Given the description of an element on the screen output the (x, y) to click on. 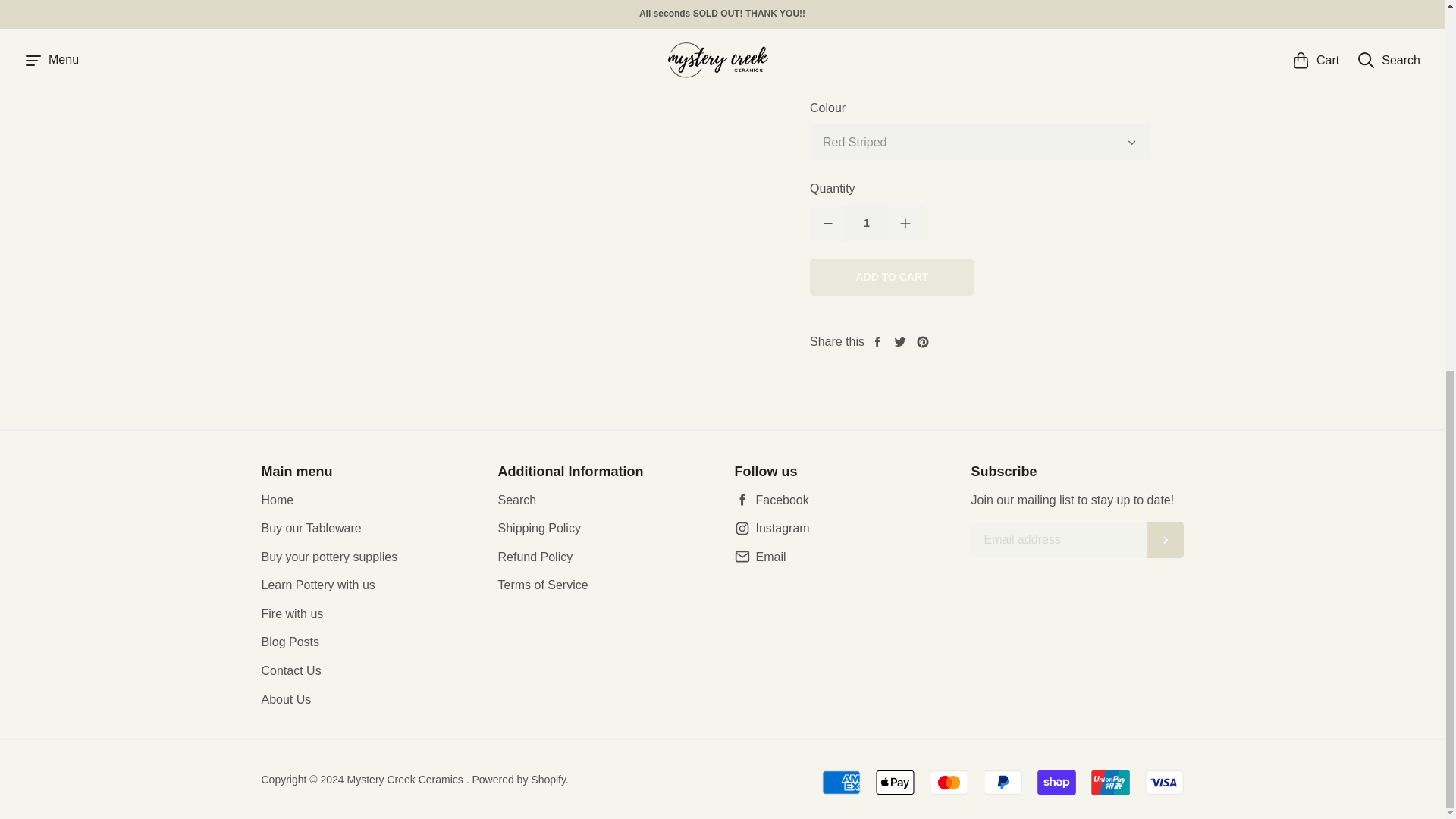
Facebook (839, 499)
Email (839, 557)
Instagram (839, 528)
1 (865, 222)
